Given the description of an element on the screen output the (x, y) to click on. 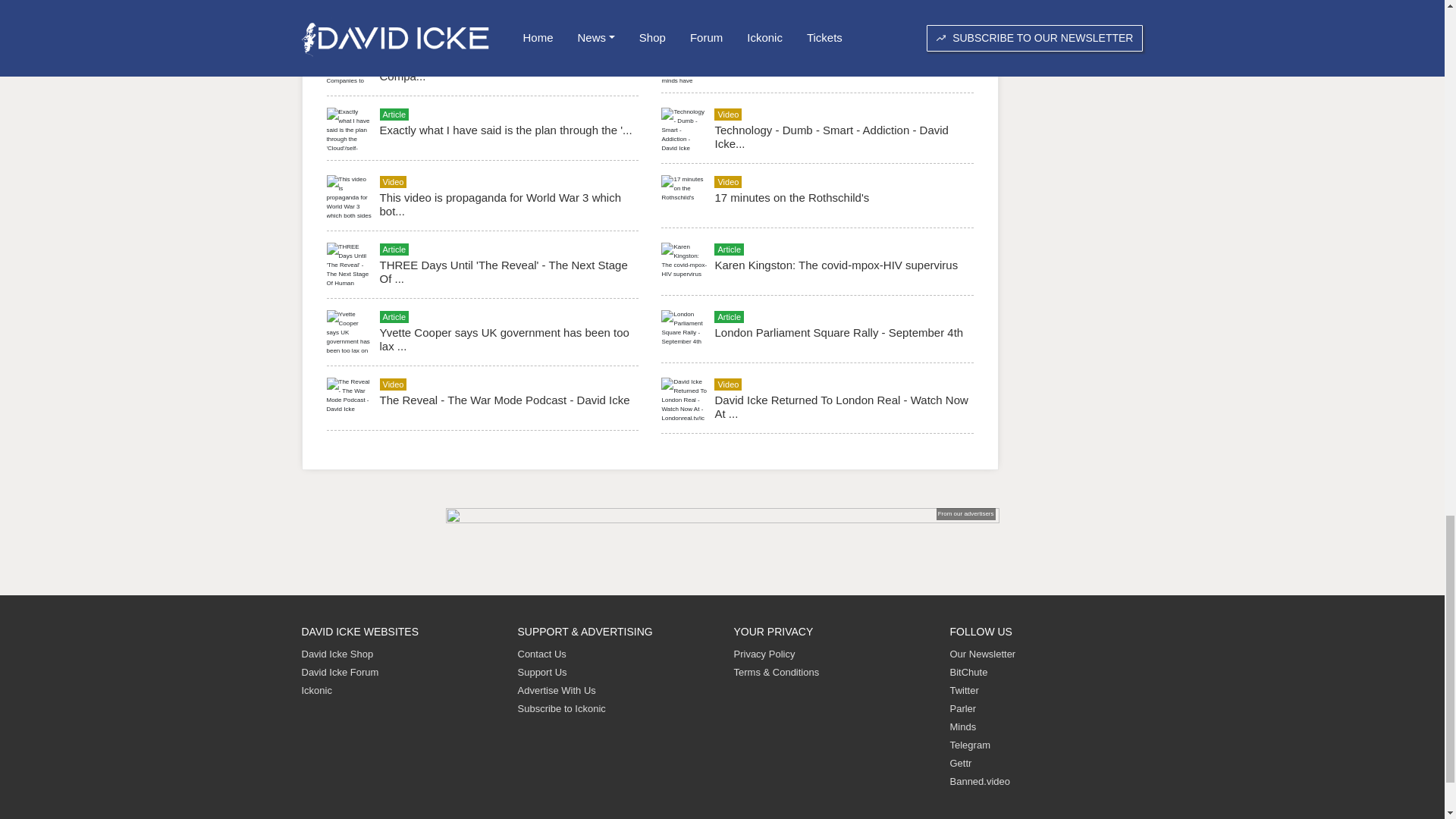
Uncovering World Tyranny And Its War Strategy - David Icke (502, 7)
